Given the description of an element on the screen output the (x, y) to click on. 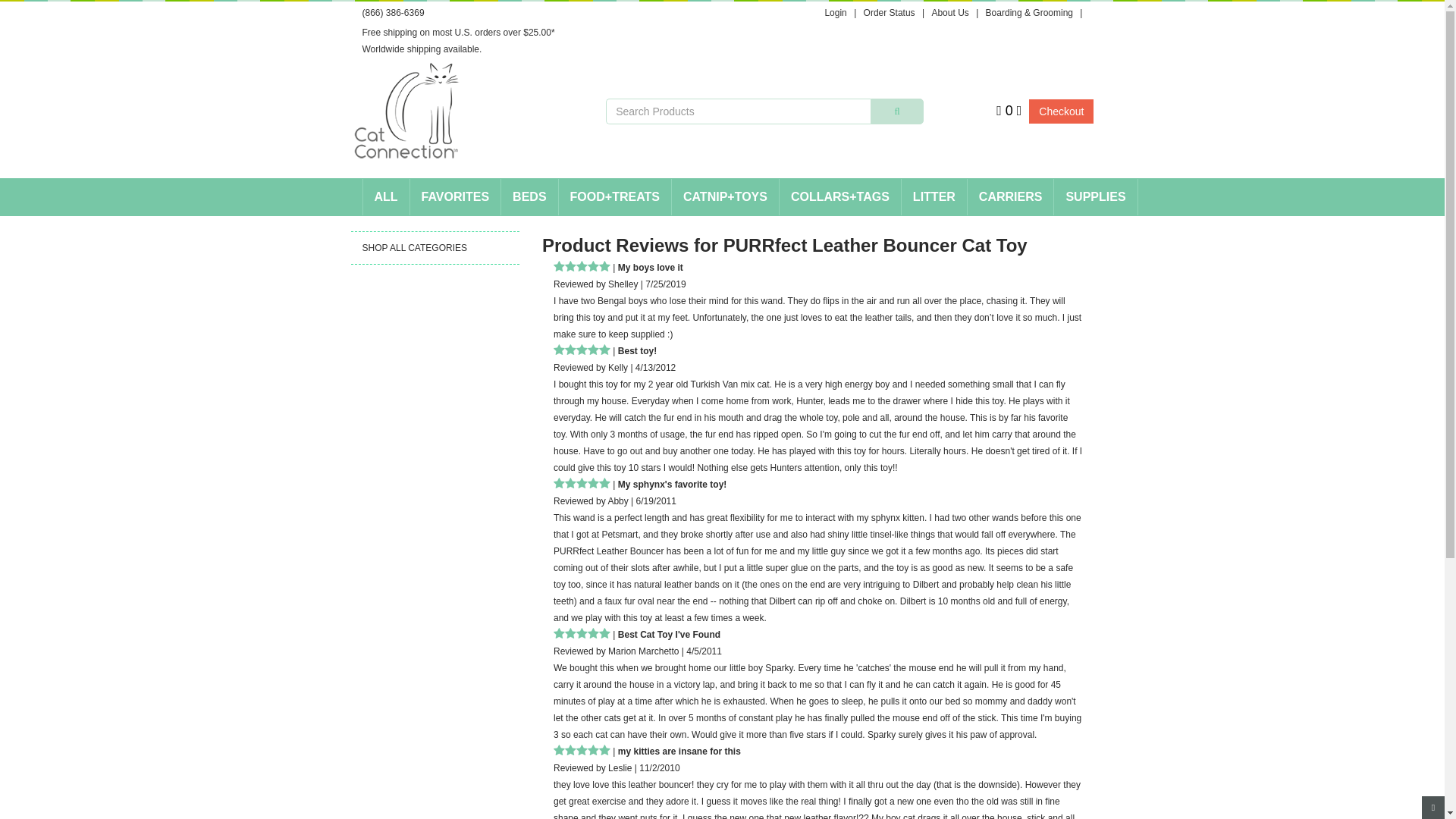
ALL (385, 197)
Checkout (1061, 111)
0 (1008, 110)
FAVORITES (455, 197)
About Us (949, 12)
Login (834, 12)
BEDS (528, 197)
SUPPLIES (1095, 197)
Order Status (889, 12)
CARRIERS (1011, 197)
LITTER (933, 197)
